Given the description of an element on the screen output the (x, y) to click on. 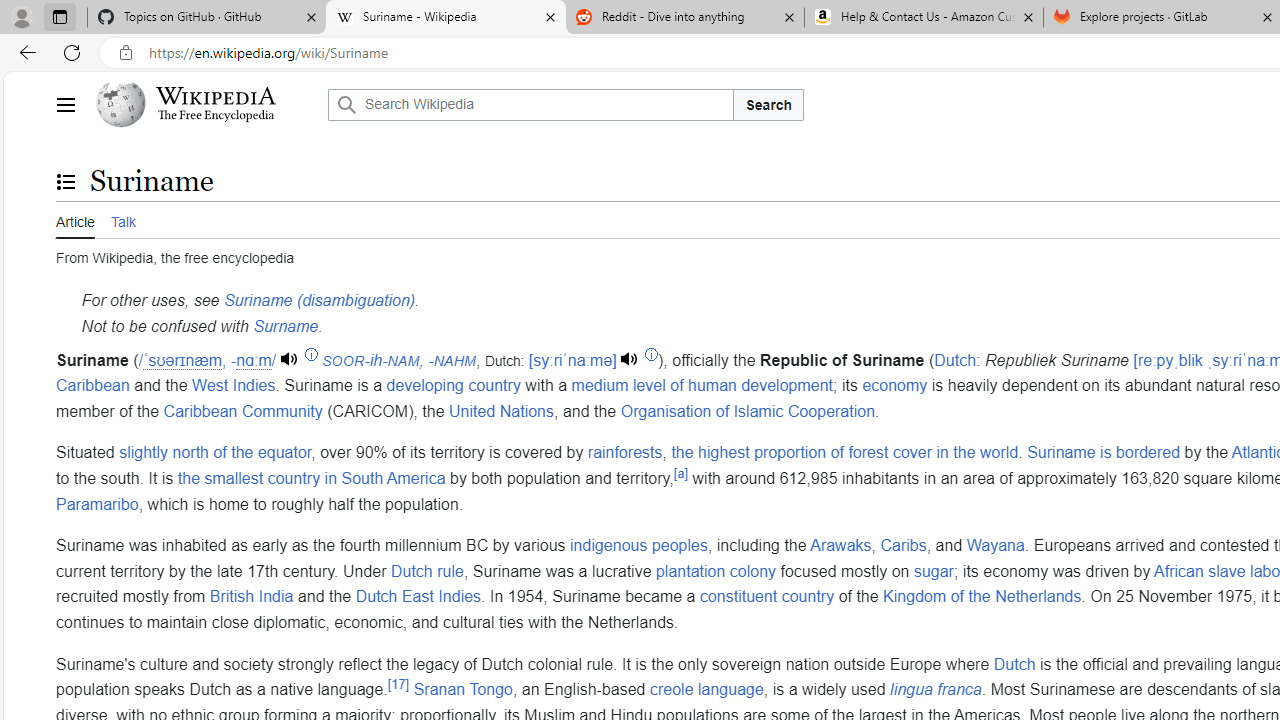
United Nations (501, 410)
slightly north of the equator (215, 453)
Kingdom of the Netherlands (982, 597)
medium level of human development (702, 386)
Talk (122, 219)
Wikipedia The Free Encyclopedia (206, 104)
economy (894, 386)
constituent country (766, 597)
plantation colony (715, 571)
developing country (453, 386)
[17] (397, 683)
